Given the description of an element on the screen output the (x, y) to click on. 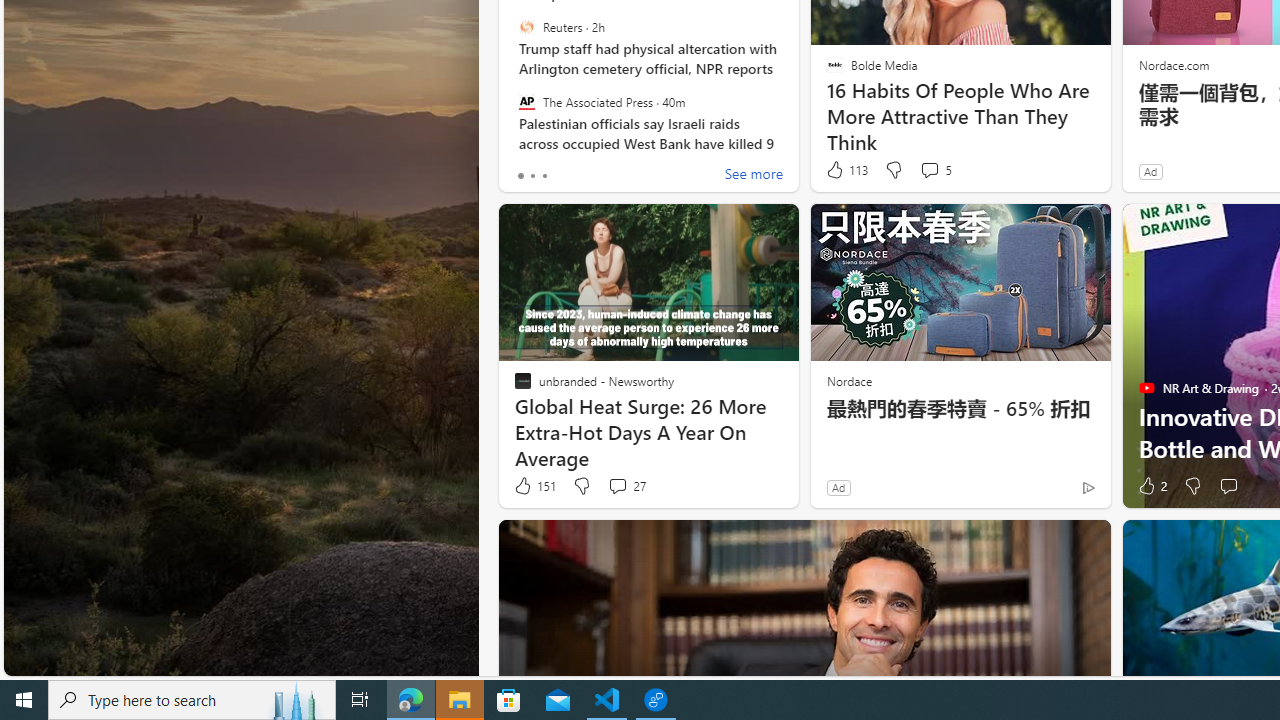
Dislike (1191, 485)
tab-2 (543, 175)
View comments 5 Comment (929, 169)
The Associated Press (526, 101)
View comments 27 Comment (617, 485)
View comments 27 Comment (626, 485)
113 Like (845, 170)
151 Like (534, 485)
